Given the description of an element on the screen output the (x, y) to click on. 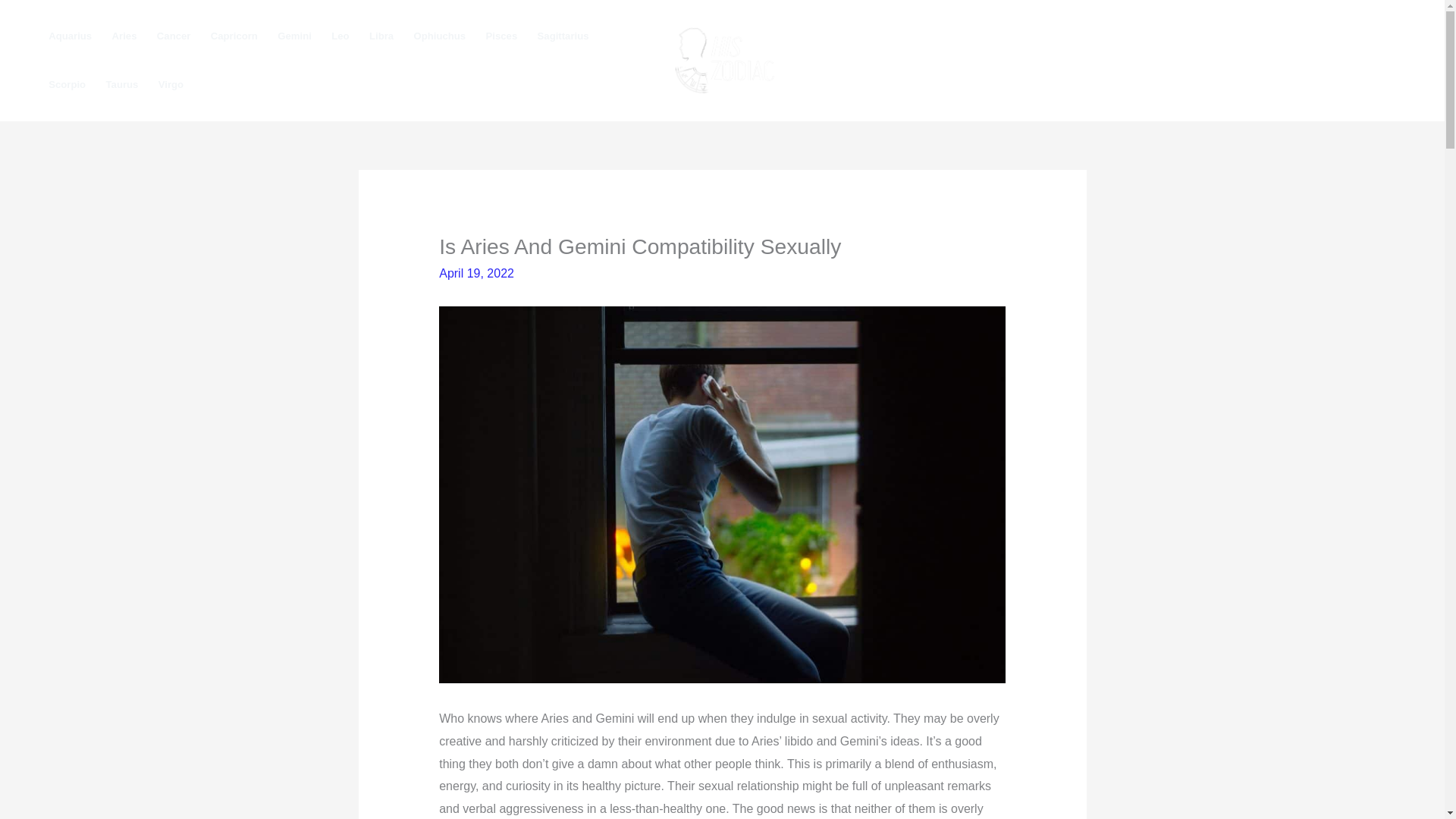
Aquarius (70, 36)
Scorpio (67, 84)
Libra (381, 36)
Taurus (122, 84)
Cancer (173, 36)
Pisces (501, 36)
Sagittarius (562, 36)
Gemini (294, 36)
Ophiuchus (439, 36)
Capricorn (233, 36)
Aries (124, 36)
Virgo (170, 84)
